Given the description of an element on the screen output the (x, y) to click on. 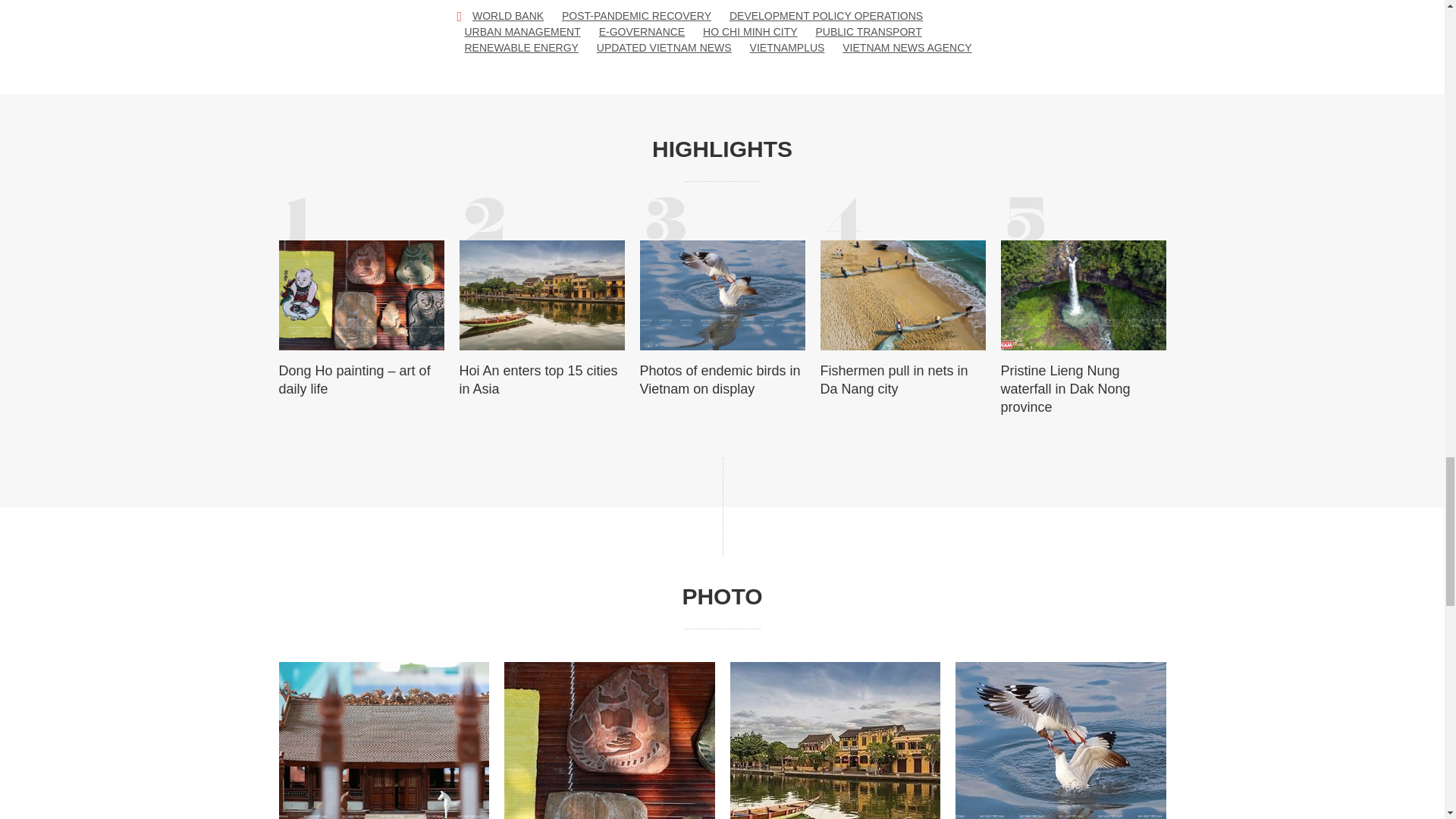
POST-PANDEMIC RECOVERY (636, 16)
Photo (722, 596)
PHOTO (722, 596)
Hoi An enters top 15 cities in Asia (542, 379)
 renewable energy (521, 48)
World Bank (507, 16)
 Vietnam News Agency (907, 48)
 e-governance (641, 32)
 updated Vietnam news (664, 48)
 post-pandemic recovery (636, 16)
Photos of endemic birds in Vietnam on display (722, 379)
HO CHI MINH CITY (749, 32)
VIETNAMPLUS (787, 48)
 public transport (868, 32)
 Ho Chi Minh City (749, 32)
